Given the description of an element on the screen output the (x, y) to click on. 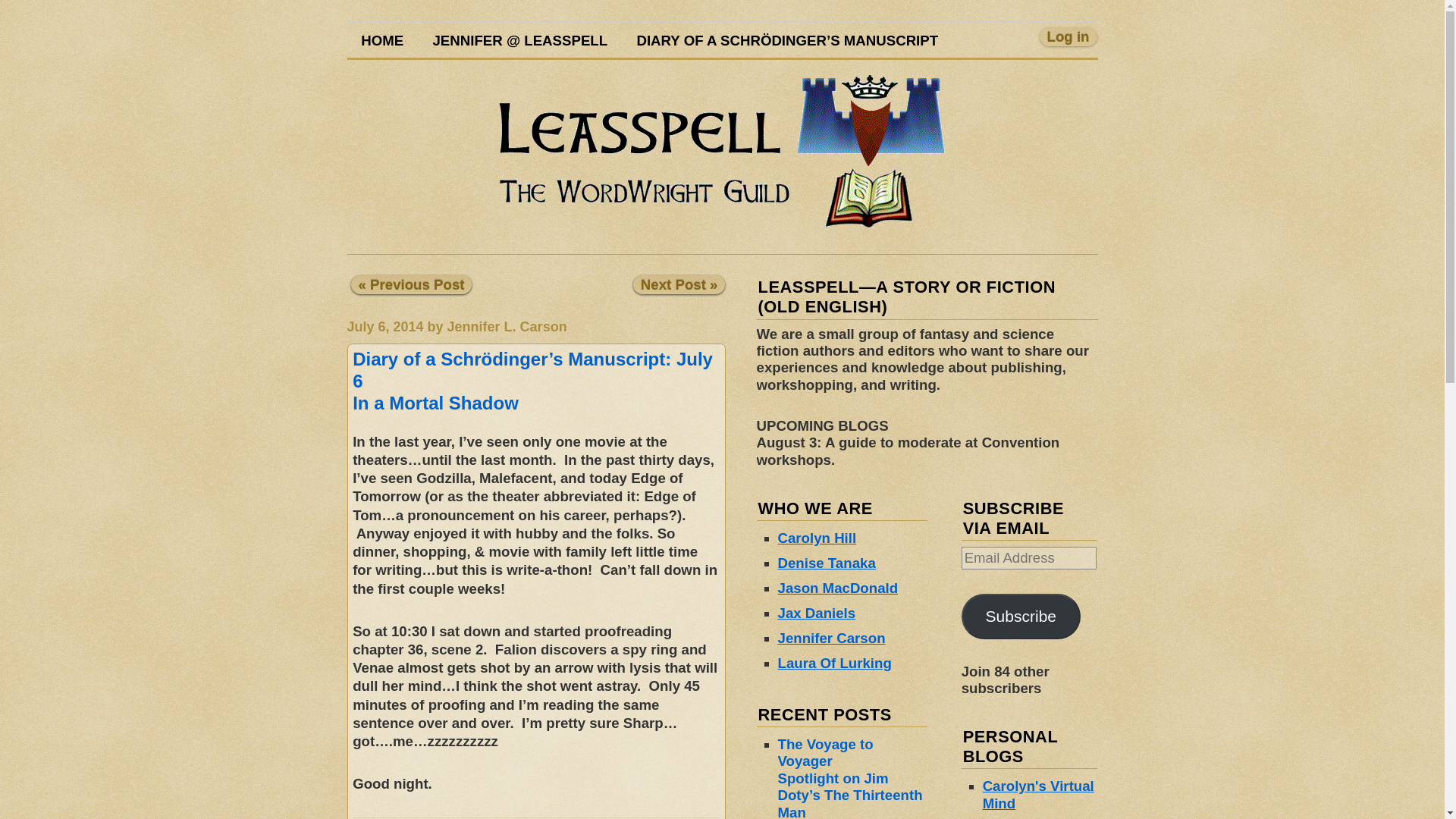
Denise Tanaka (826, 562)
Carolyn Hill (817, 537)
Log in (1068, 36)
Laura Of Lurking (834, 662)
July 6, 2014 (385, 326)
Jason MacDonald (837, 587)
Jax Daniels (816, 612)
HOME (382, 38)
View all posts by Jennifer L. Carson (506, 326)
Jennifer L. Carson (506, 326)
Log in or register (1068, 36)
Carolyn's Virtual Mind (1038, 794)
Subscribe (1020, 616)
Jennifer Carson (831, 637)
